Given the description of an element on the screen output the (x, y) to click on. 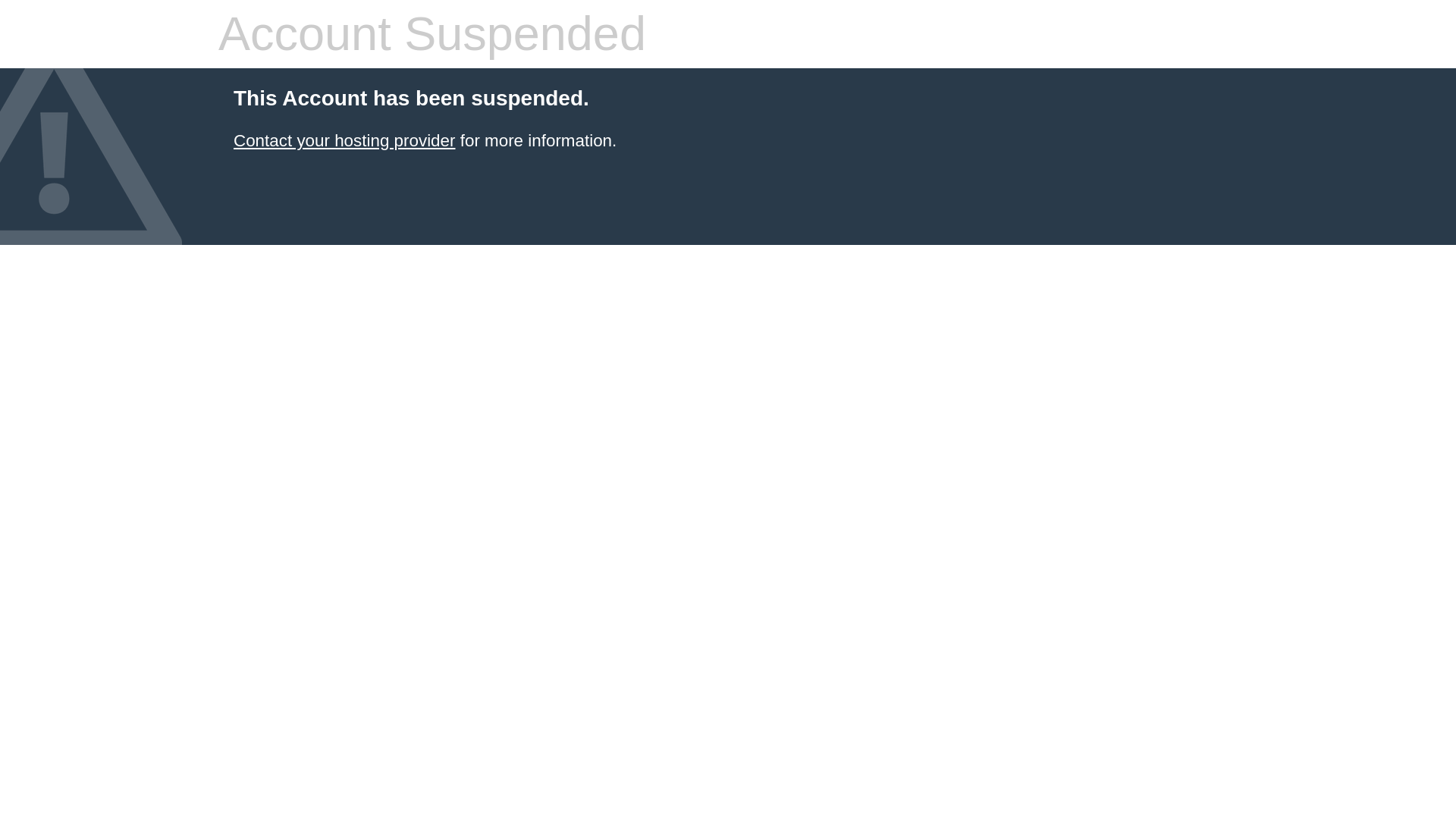
Contact your hosting provider (343, 140)
